Given the description of an element on the screen output the (x, y) to click on. 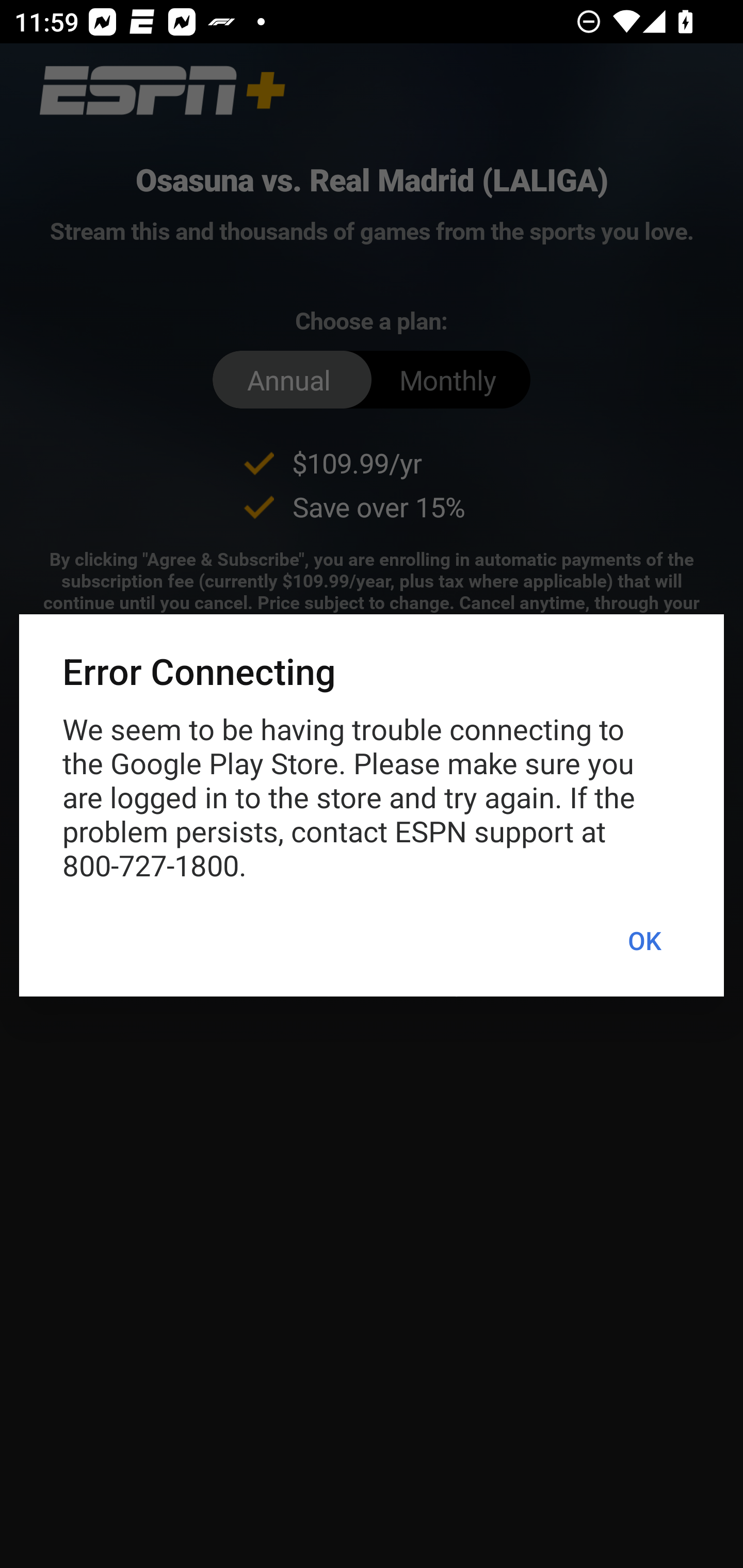
OK (644, 940)
